Given the description of an element on the screen output the (x, y) to click on. 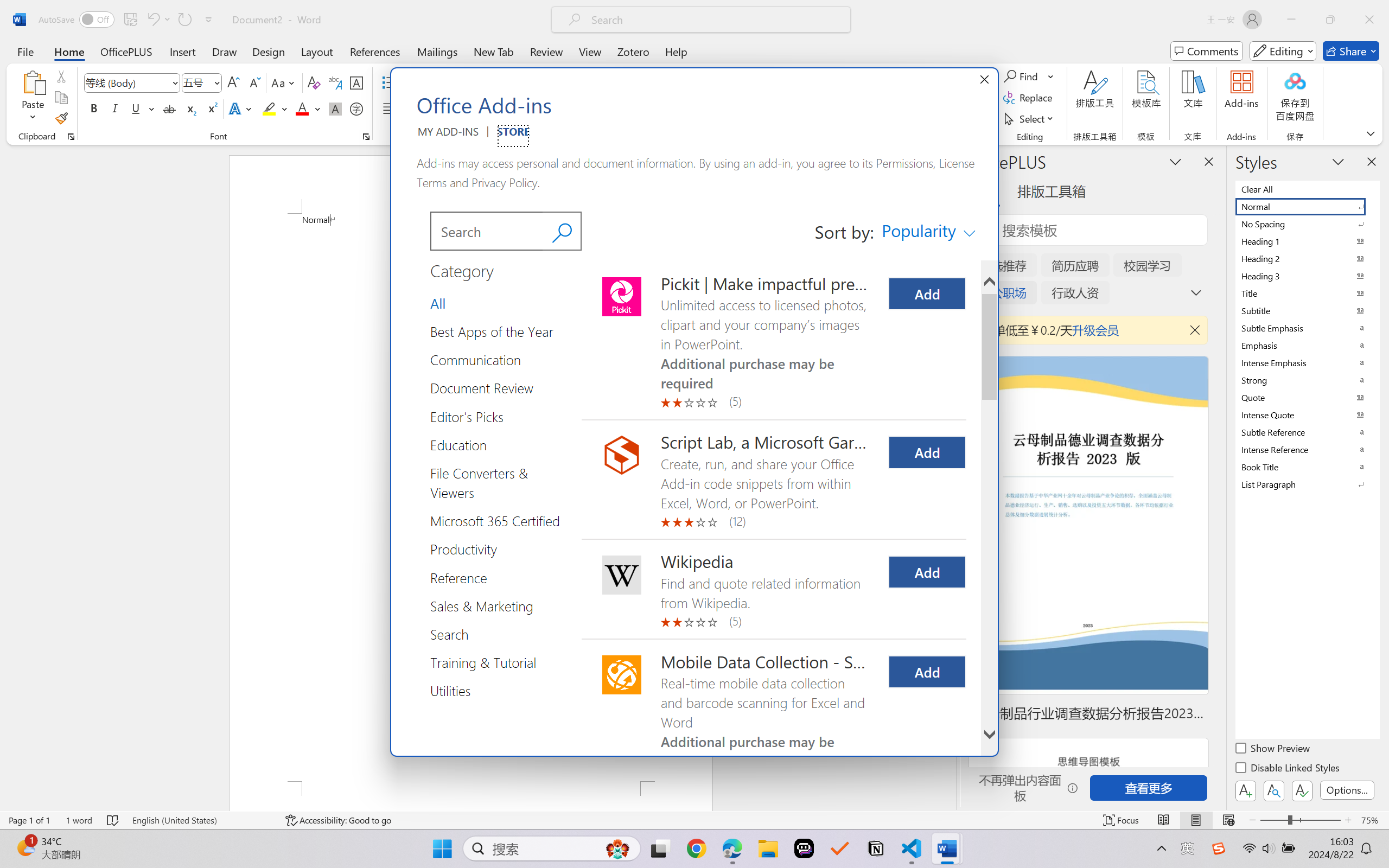
Heading 2 (1306, 258)
Copy (60, 97)
Category Group Search 12 of 14 (453, 633)
Format Painter (60, 118)
Cut (60, 75)
File Tab (24, 51)
Heading 3 (1306, 275)
No Spacing (1306, 223)
Design (268, 51)
Add Script Lab, a Microsoft Garage project (926, 452)
Repeat Doc Close (184, 19)
Category Group Microsoft 365 Certified 8 of 14 (499, 520)
Class: NetUIImage (1299, 484)
